Given the description of an element on the screen output the (x, y) to click on. 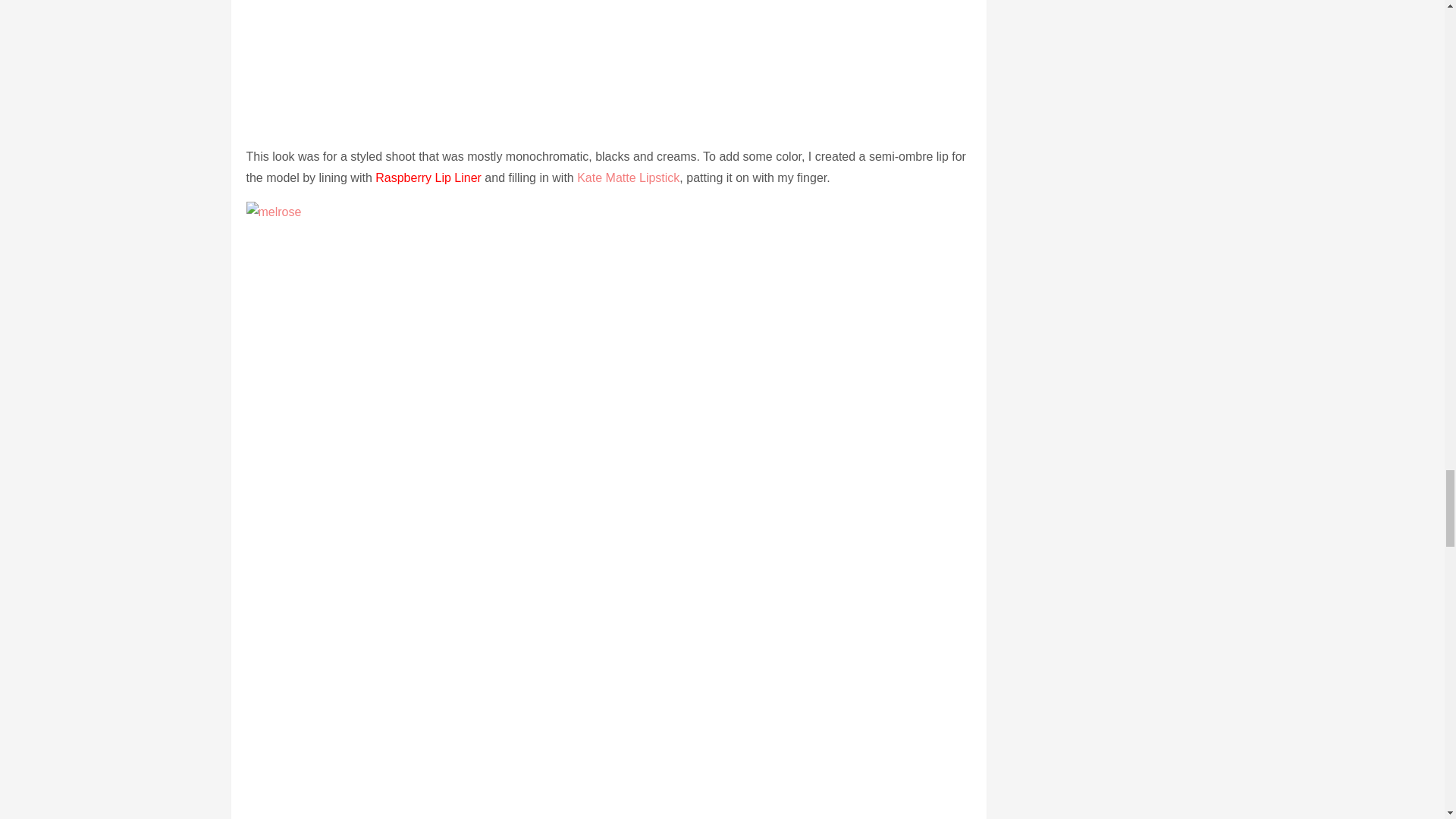
Kate Matte Lipstick (627, 177)
Raspberry Lip Liner (428, 177)
